Given the description of an element on the screen output the (x, y) to click on. 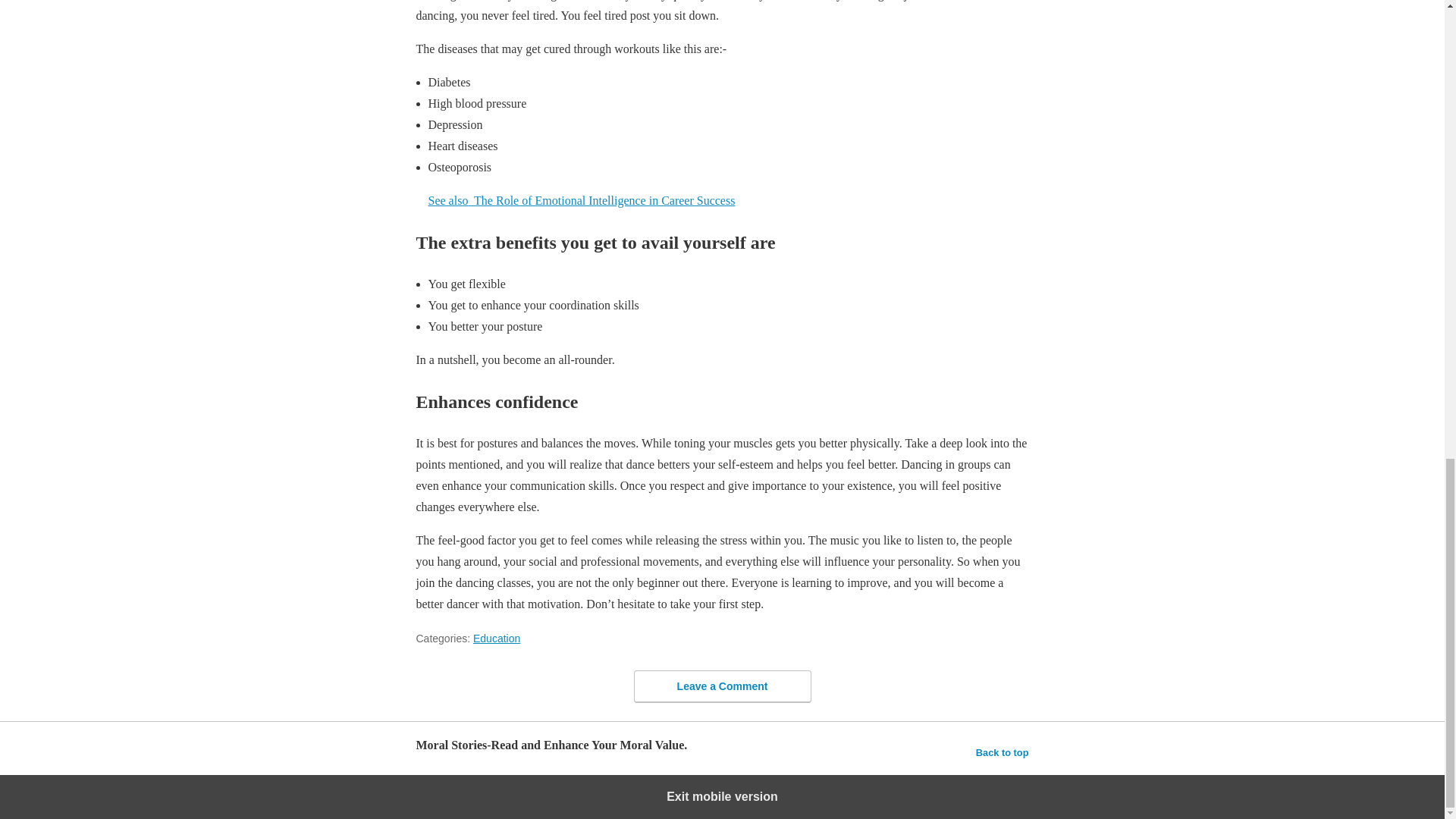
Leave a Comment (721, 686)
Education (496, 638)
Back to top (1002, 752)
